Given the description of an element on the screen output the (x, y) to click on. 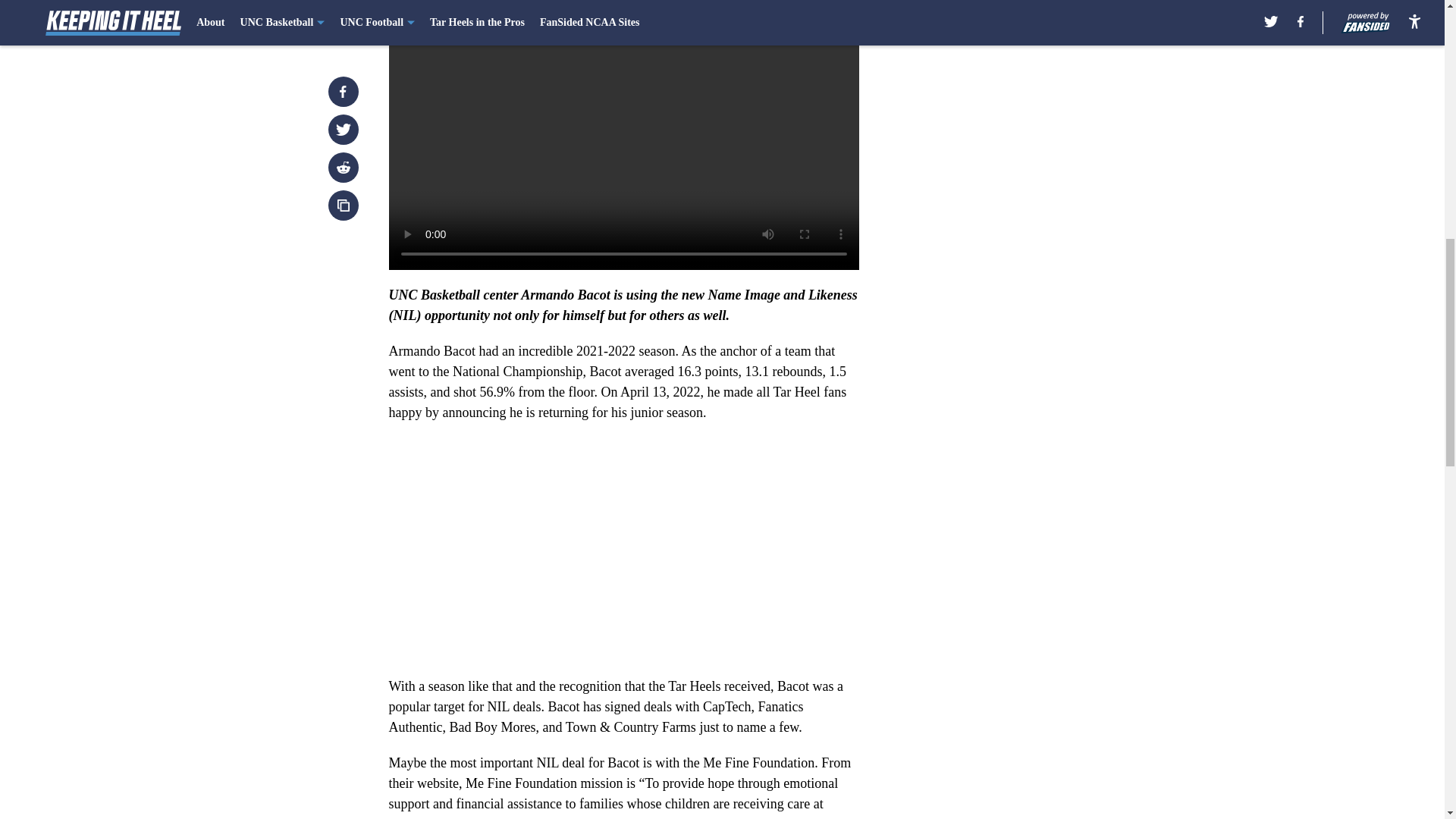
3rd party ad content (1047, 100)
3rd party ad content (1047, 320)
